Given the description of an element on the screen output the (x, y) to click on. 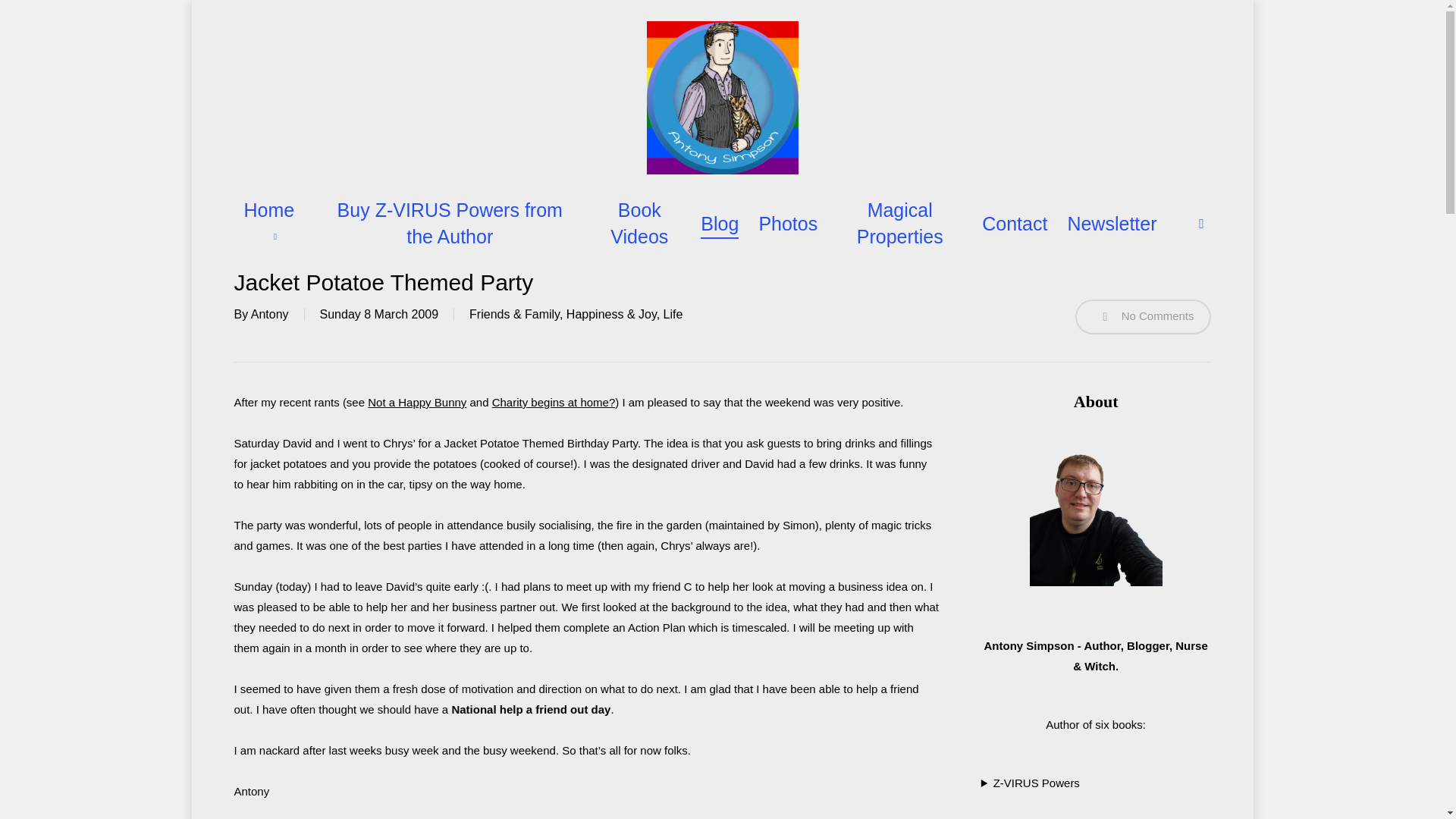
Contact (1013, 223)
Blog (719, 223)
Home (273, 223)
Buy Z-VIRUS Powers from the Author (449, 223)
Magical Properties (899, 223)
Book Videos (638, 223)
Photos (787, 223)
search (1200, 223)
Newsletter (1111, 223)
Posts by Antony (269, 314)
